Given the description of an element on the screen output the (x, y) to click on. 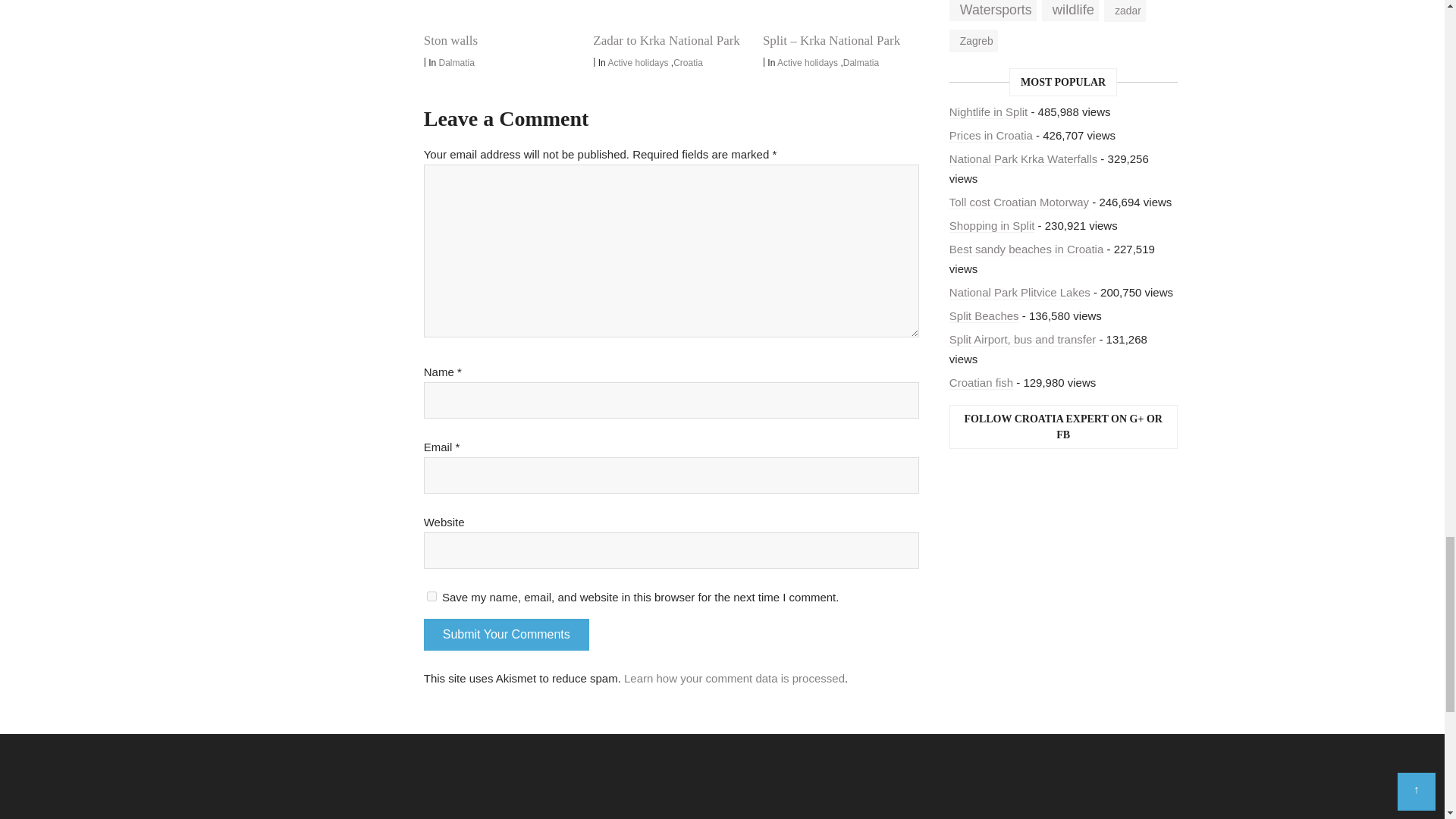
Submit Your Comments (506, 634)
yes (431, 596)
